Given the description of an element on the screen output the (x, y) to click on. 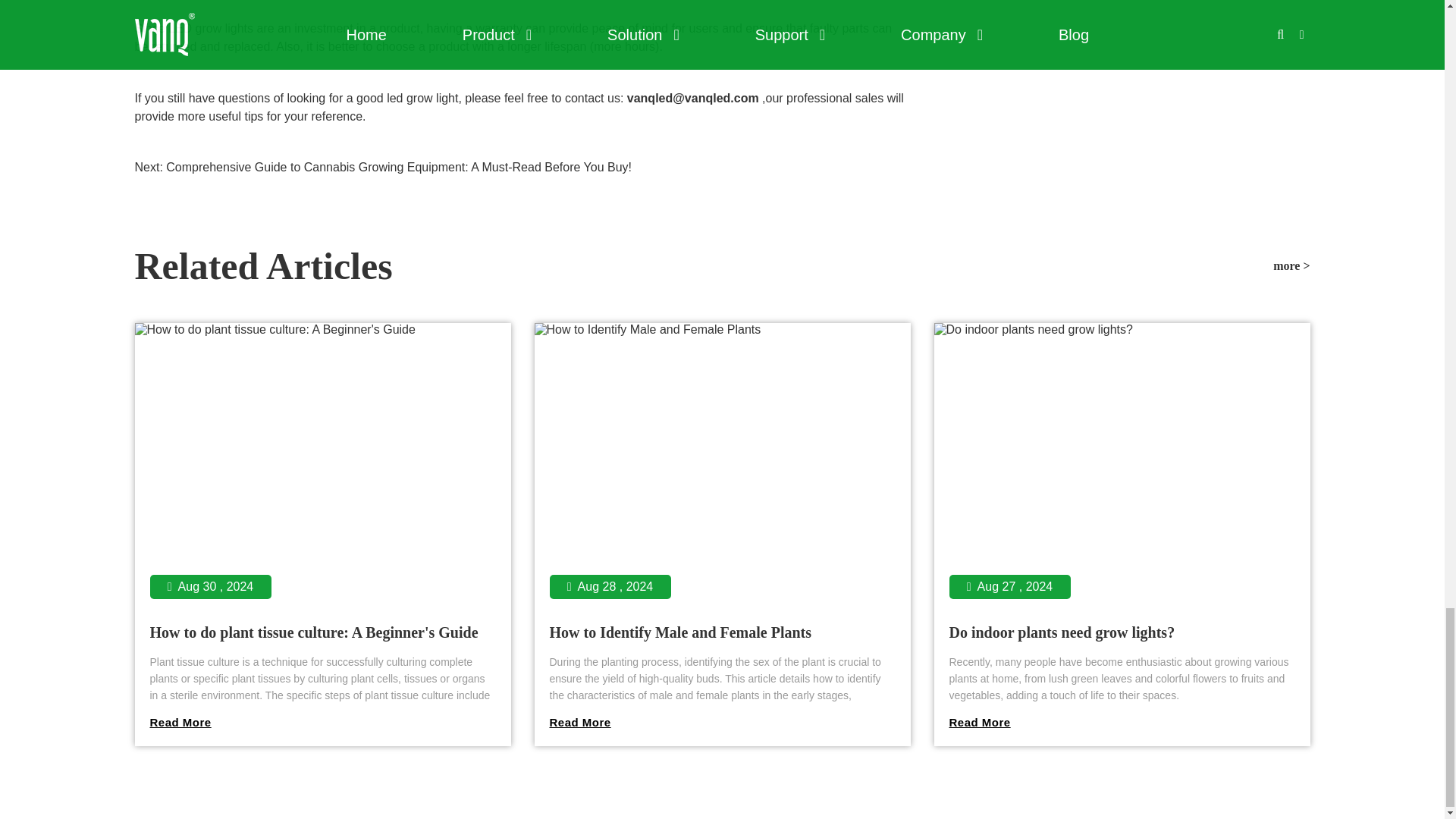
How to Identify Male and Female Plants (679, 632)
How to do plant tissue culture: A Beginner's Guide (322, 722)
How to do plant tissue culture: A Beginner's Guide (314, 632)
Do indoor plants need grow lights? (1061, 632)
Do indoor plants need grow lights? (1122, 722)
How to Identify Male and Female Plants (721, 722)
